Given the description of an element on the screen output the (x, y) to click on. 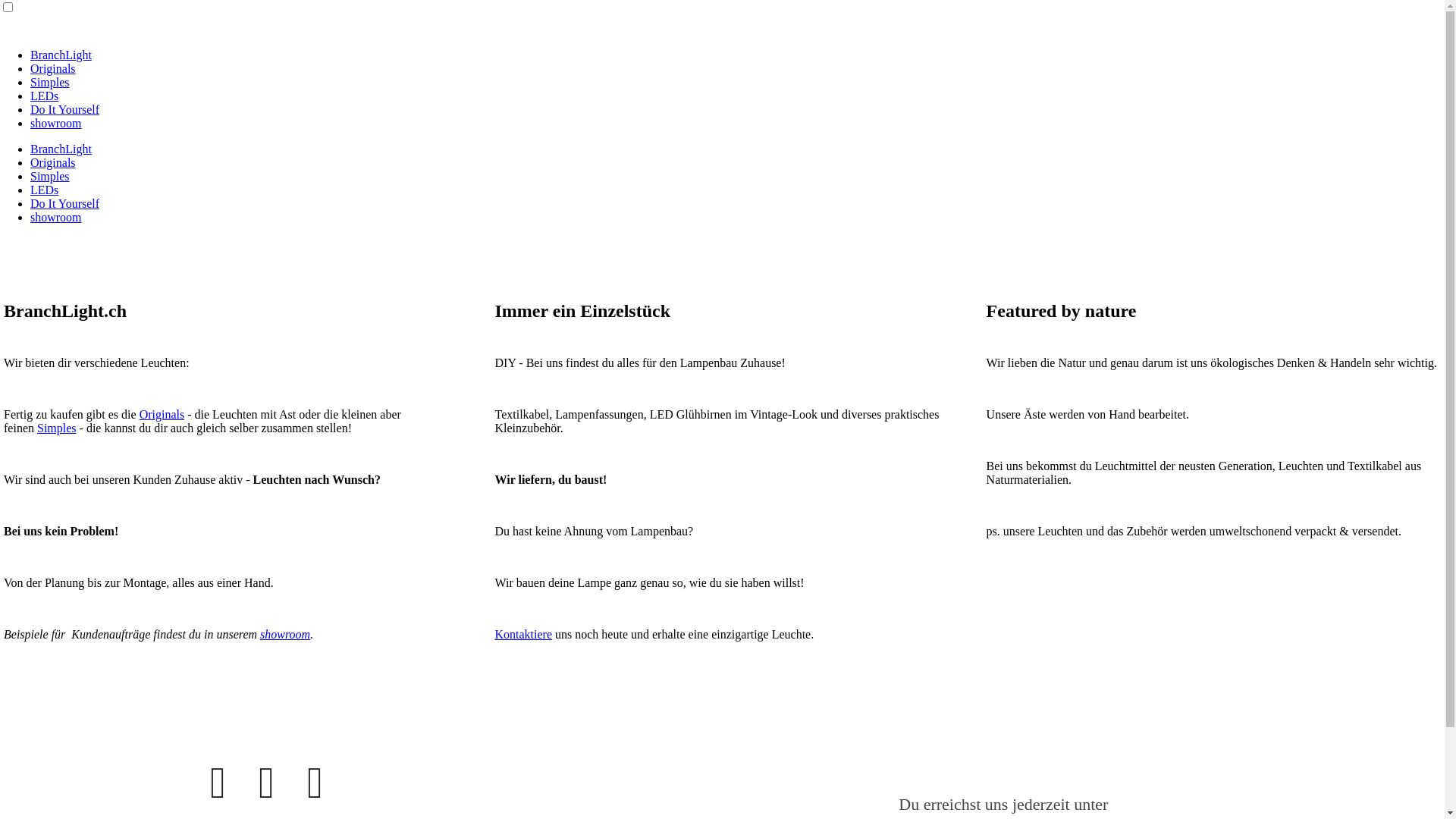
LEDs Element type: text (44, 95)
LEDs Element type: text (44, 189)
Do It Yourself Element type: text (64, 203)
Do It Yourself Element type: text (64, 109)
E-Mail Element type: hover (315, 783)
Facebook Element type: hover (218, 783)
Simples Element type: text (56, 427)
Originals Element type: text (52, 162)
Originals Element type: text (162, 413)
BranchLight Element type: text (60, 148)
Simples Element type: text (49, 175)
showroom Element type: text (55, 122)
BranchLight Element type: text (60, 54)
showroom Element type: text (55, 216)
showroom Element type: text (285, 633)
Twitter Element type: hover (266, 783)
Originals Element type: text (52, 68)
Kontaktiere Element type: text (523, 633)
Simples Element type: text (49, 81)
